Given the description of an element on the screen output the (x, y) to click on. 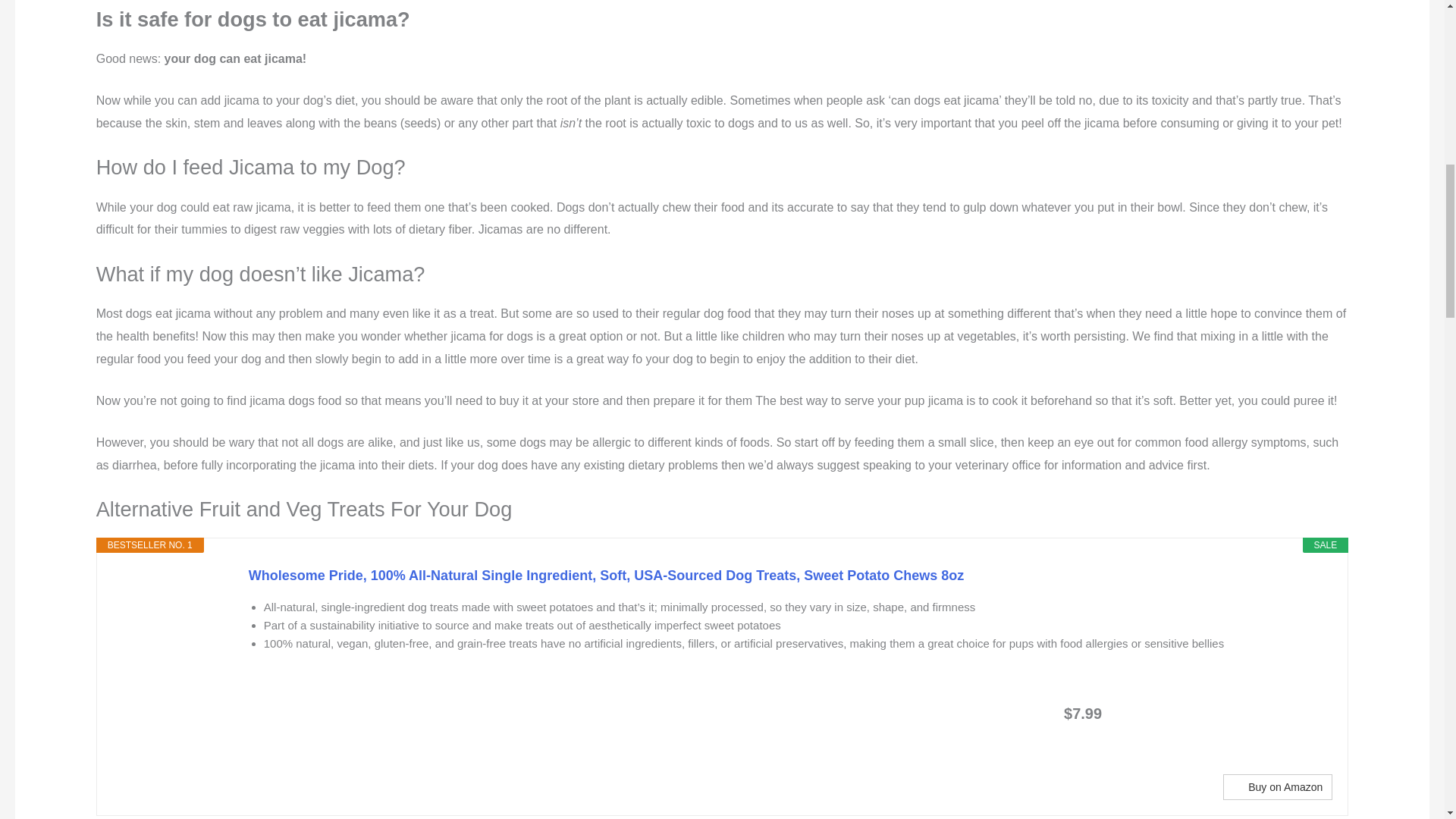
Buy on Amazon (1277, 786)
Amazon Prime (1218, 712)
